Given the description of an element on the screen output the (x, y) to click on. 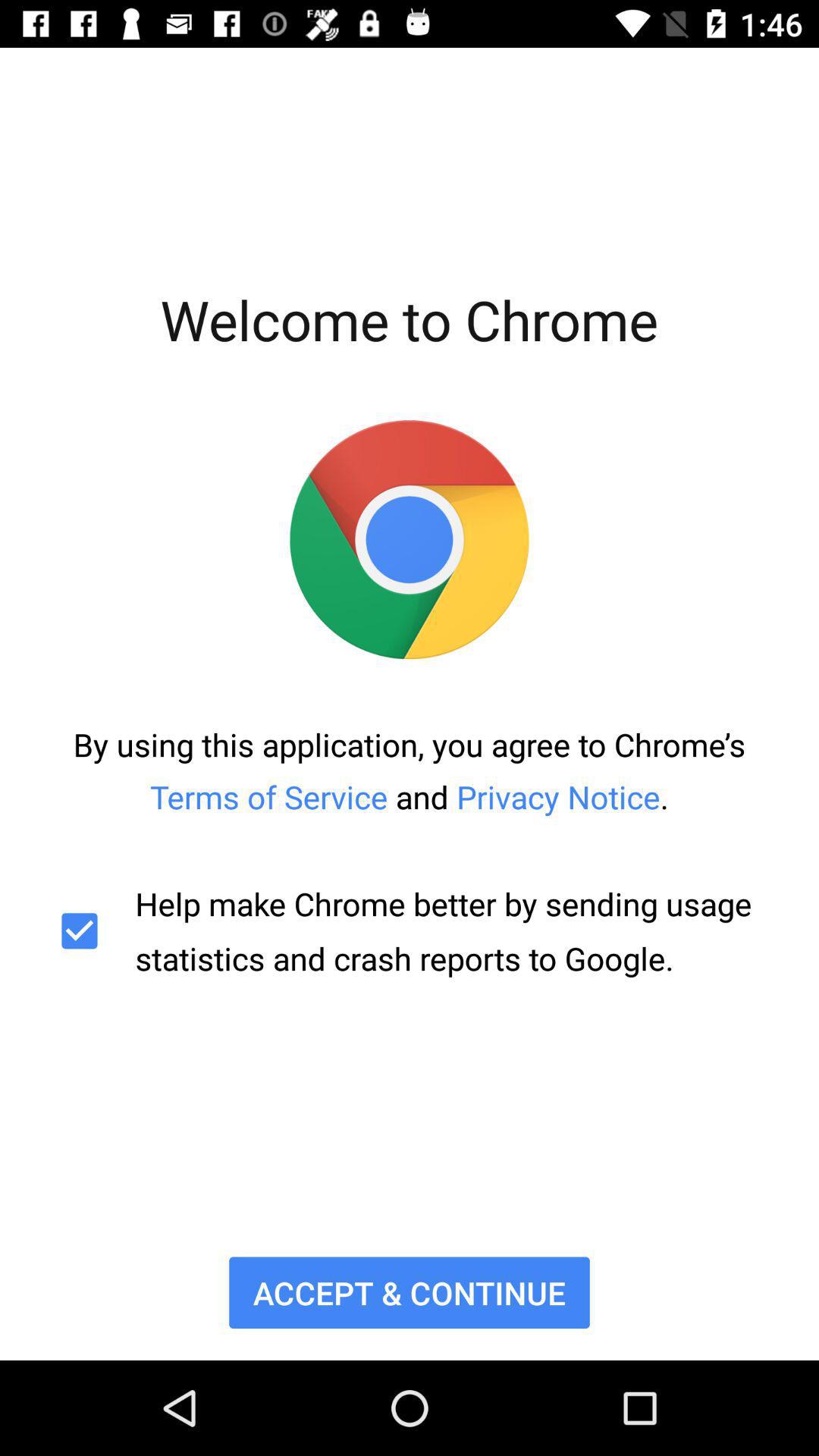
tap the help make chrome (409, 930)
